Given the description of an element on the screen output the (x, y) to click on. 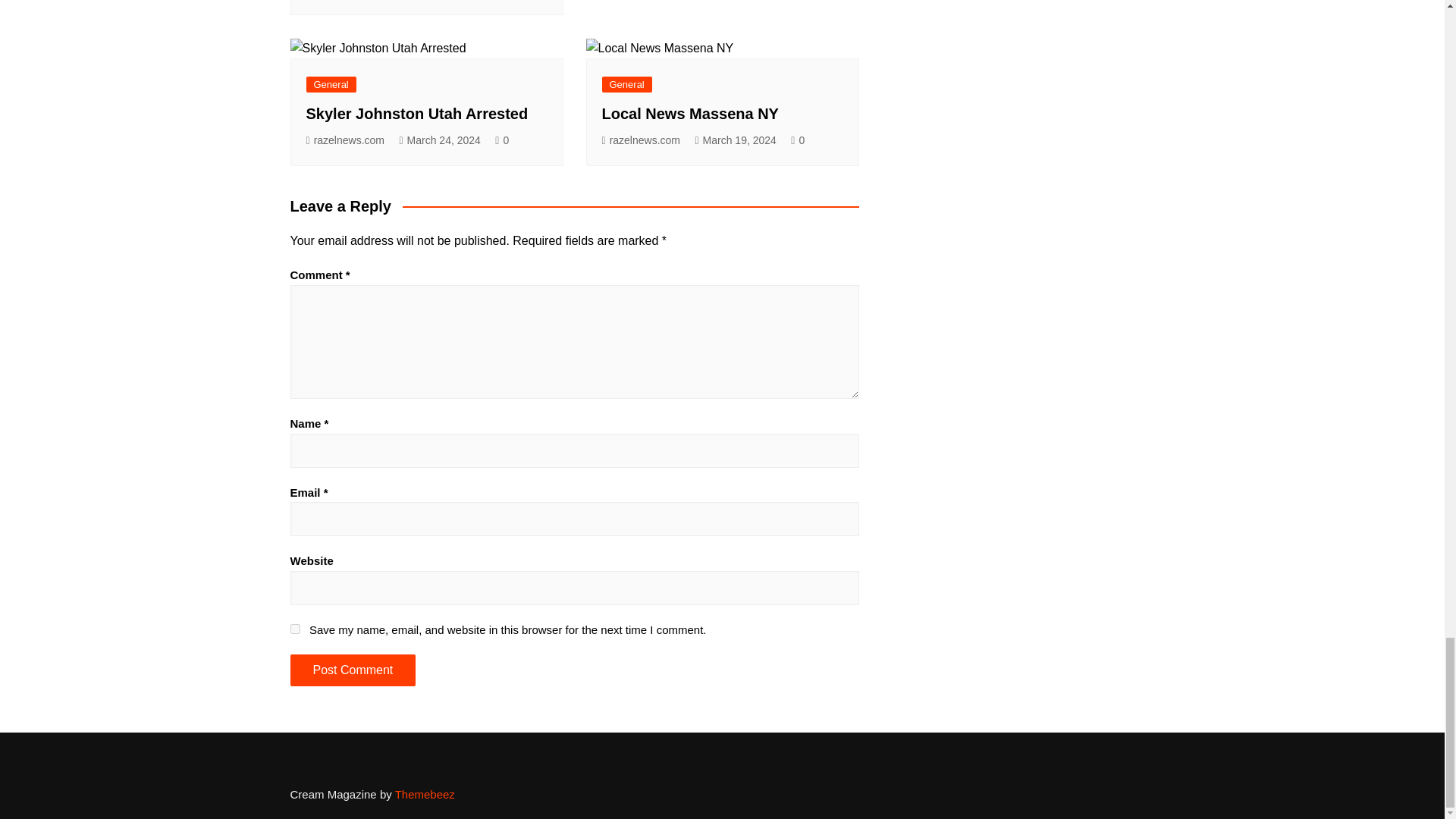
yes (294, 628)
Post Comment (351, 670)
